Given the description of an element on the screen output the (x, y) to click on. 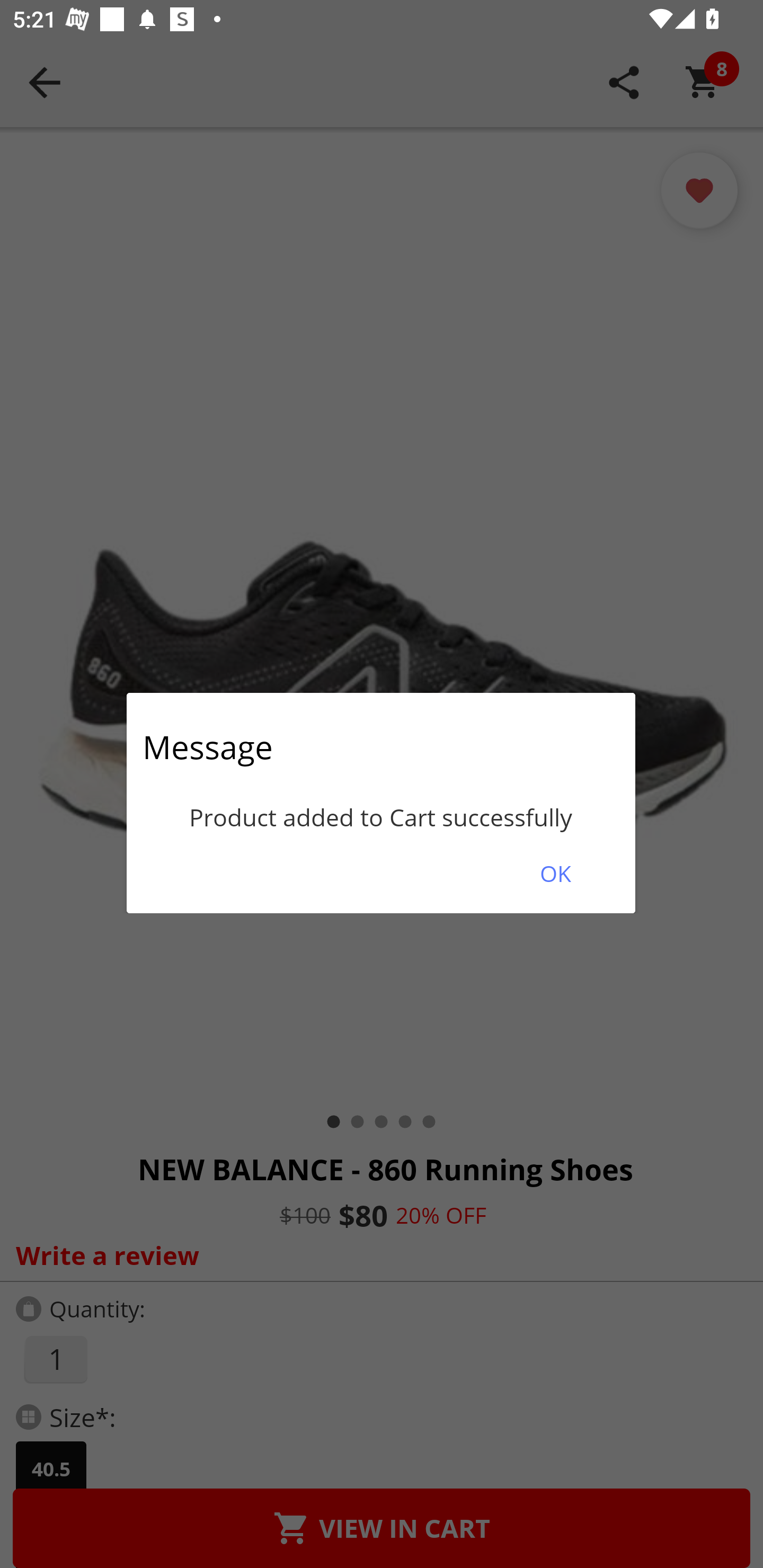
OK (555, 873)
